Given the description of an element on the screen output the (x, y) to click on. 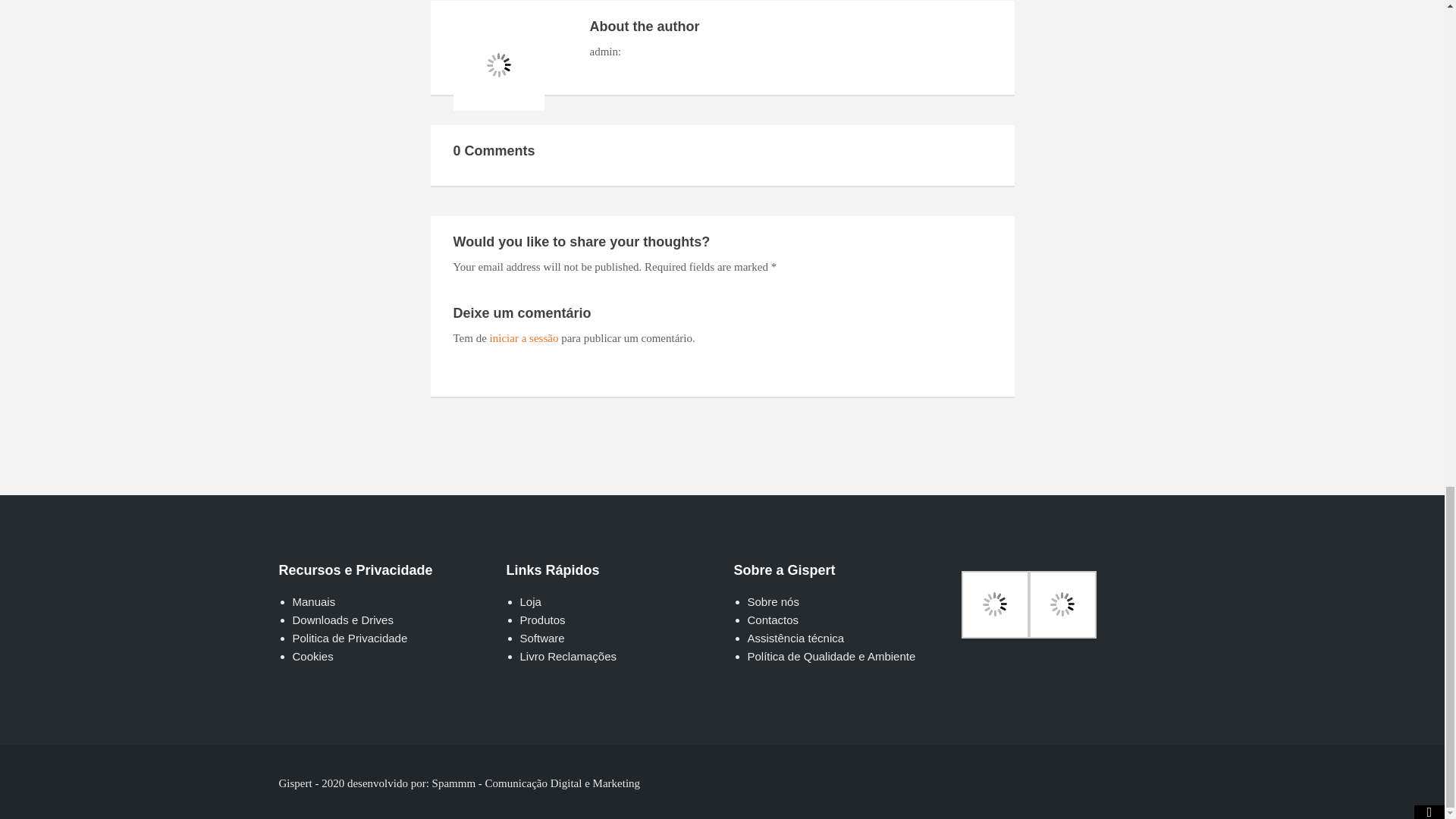
Cookies (312, 656)
Manuais (314, 601)
Loja (530, 601)
Politica de Privacidade (349, 637)
Downloads e Drives (342, 619)
